Given the description of an element on the screen output the (x, y) to click on. 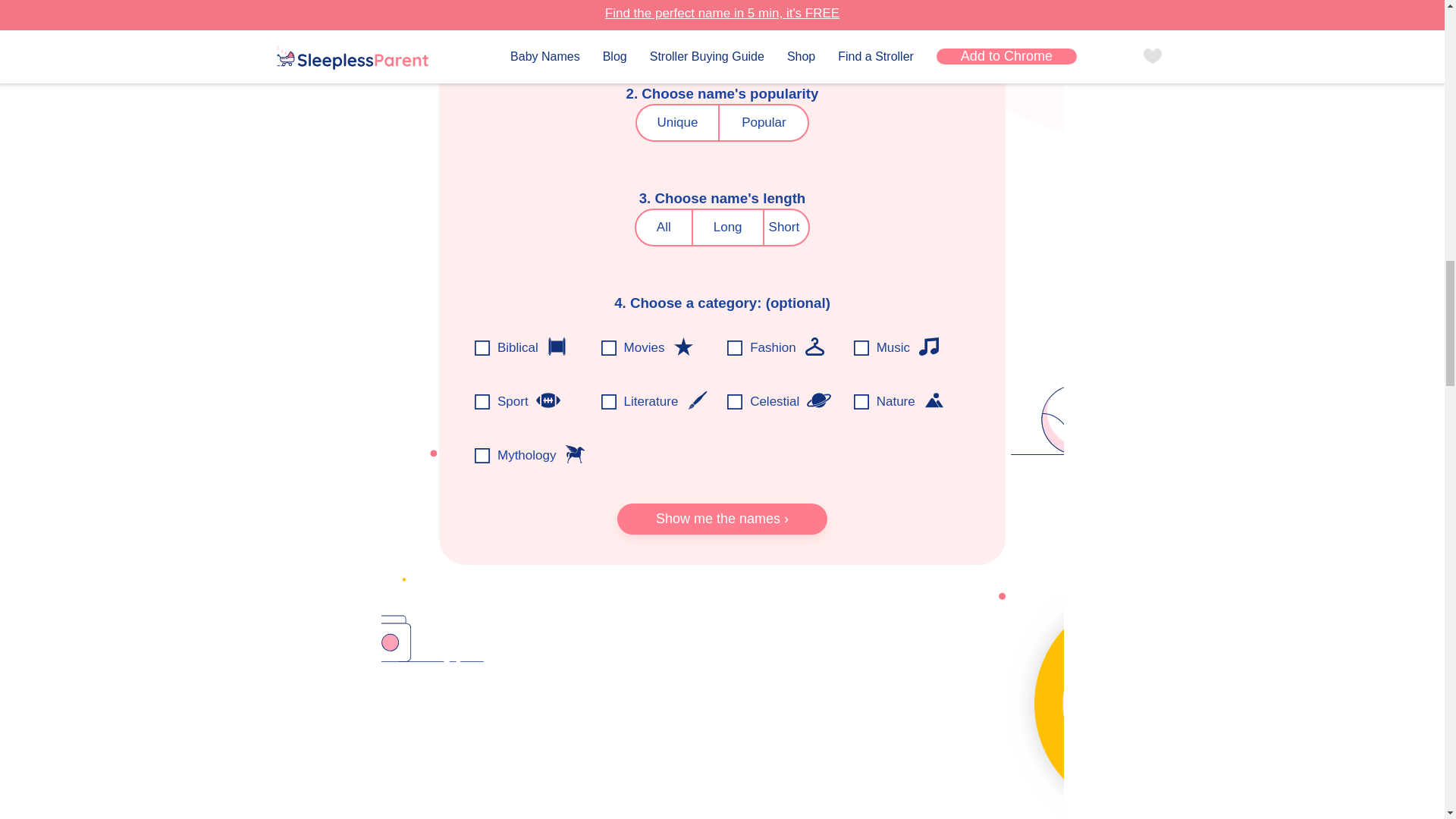
Celestial (818, 400)
Sport (547, 400)
Nature (933, 400)
Mythology (575, 454)
Literature (696, 400)
Biblical (557, 346)
Music (928, 346)
Fashion (814, 346)
Movies (683, 346)
